Given the description of an element on the screen output the (x, y) to click on. 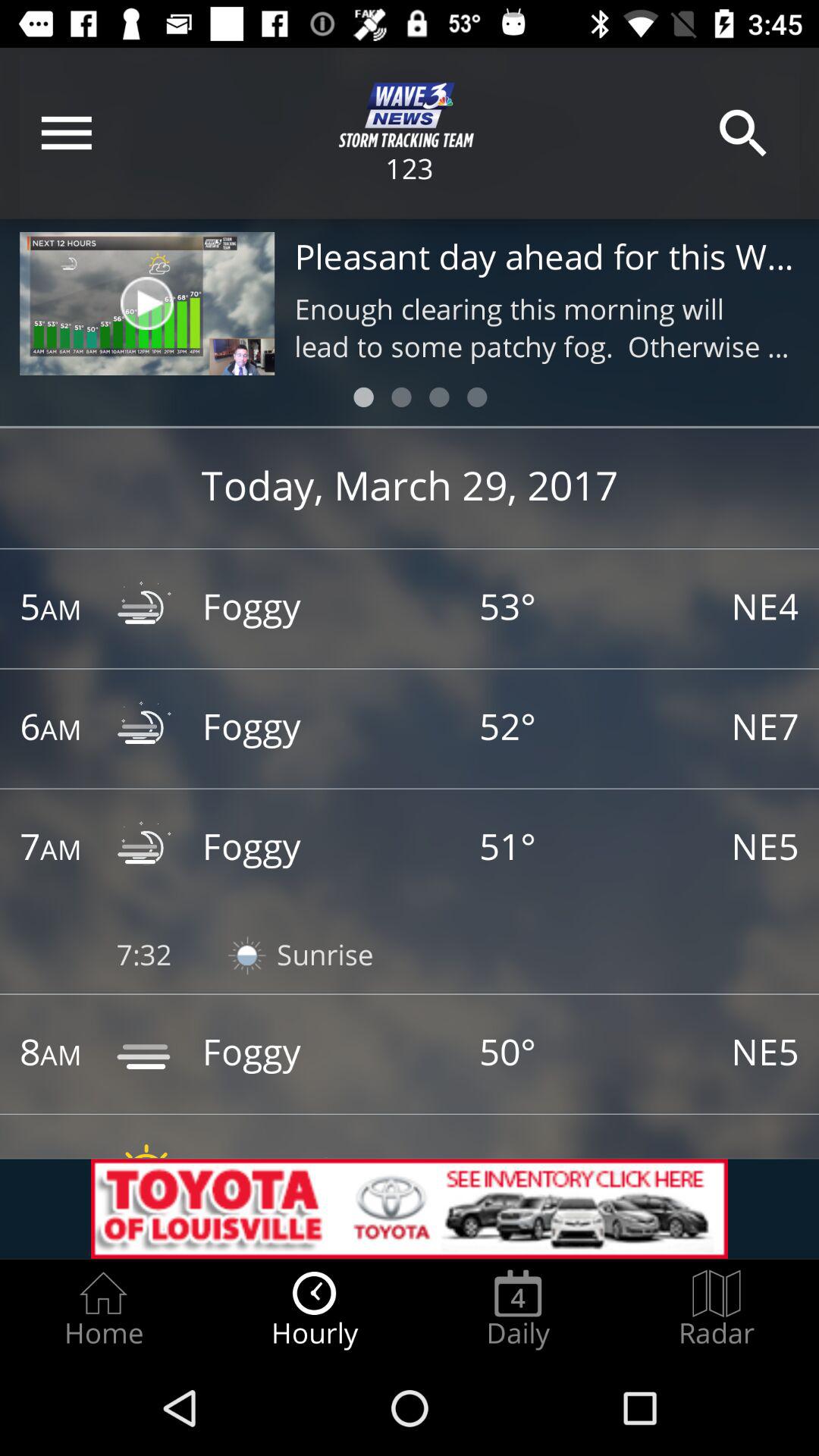
select the home (103, 1309)
